Given the description of an element on the screen output the (x, y) to click on. 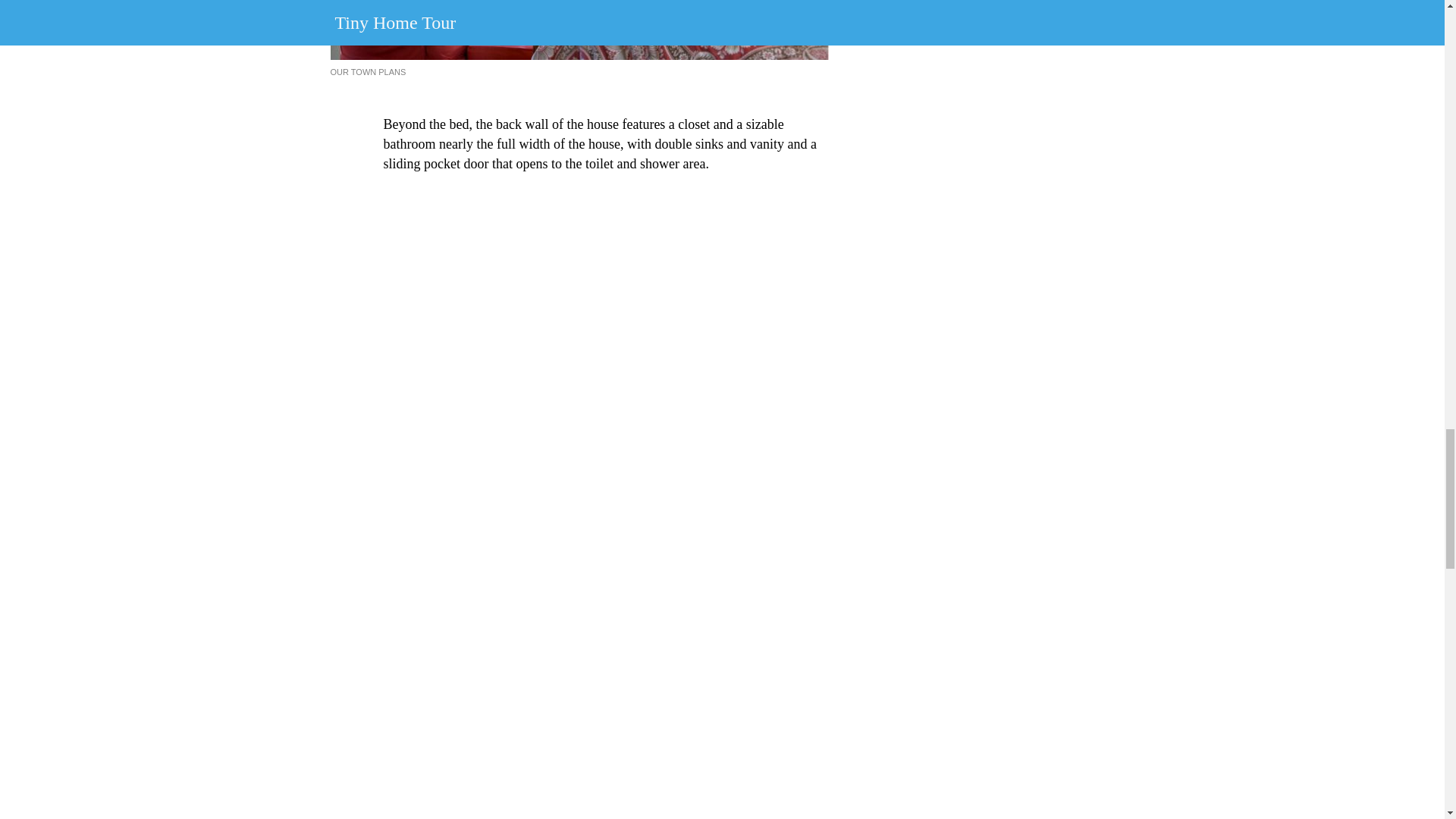
OUR TOWN PLANS (368, 71)
